Given the description of an element on the screen output the (x, y) to click on. 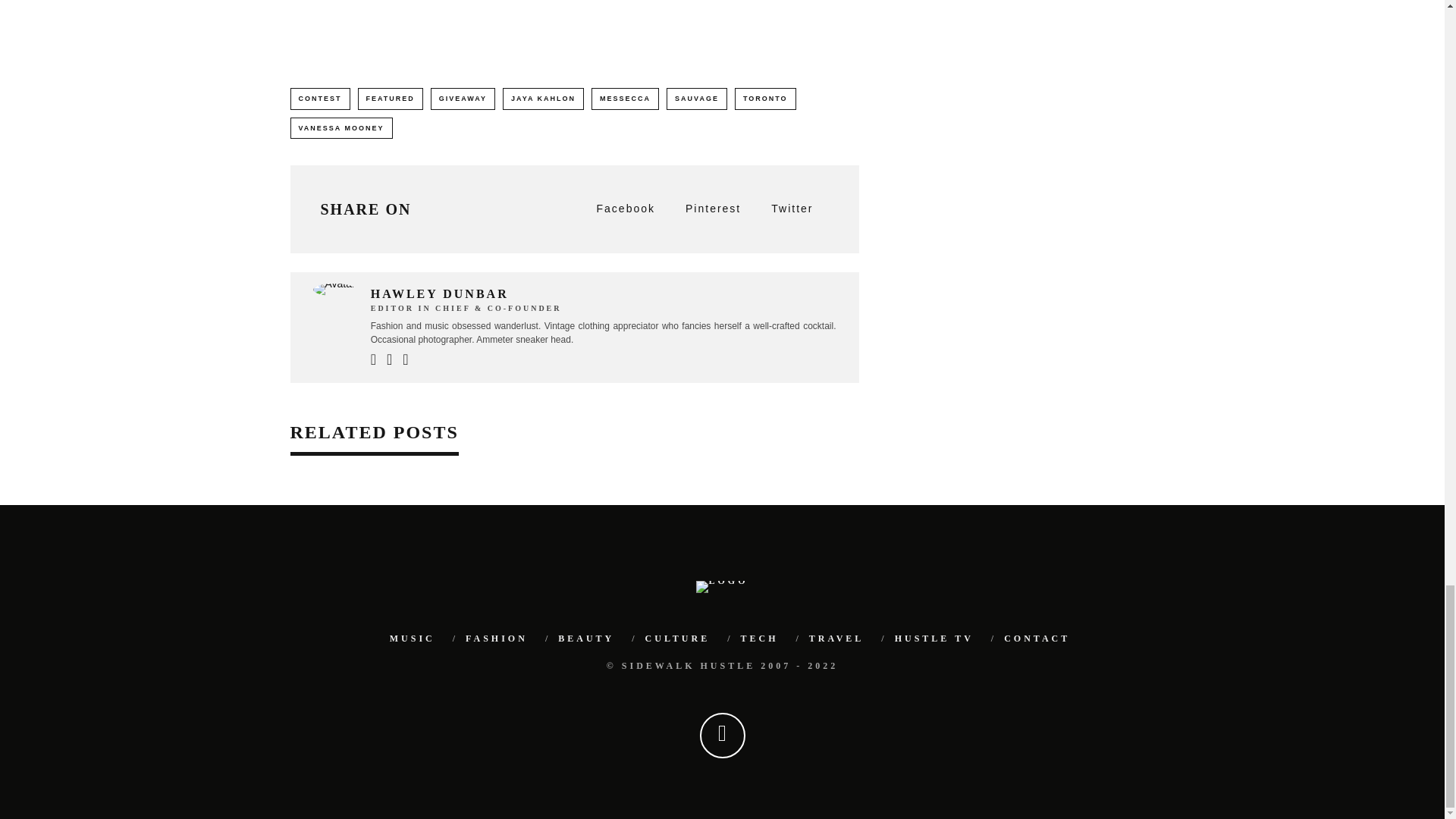
Vanessa Mooney Moon Shield (516, 27)
